Given the description of an element on the screen output the (x, y) to click on. 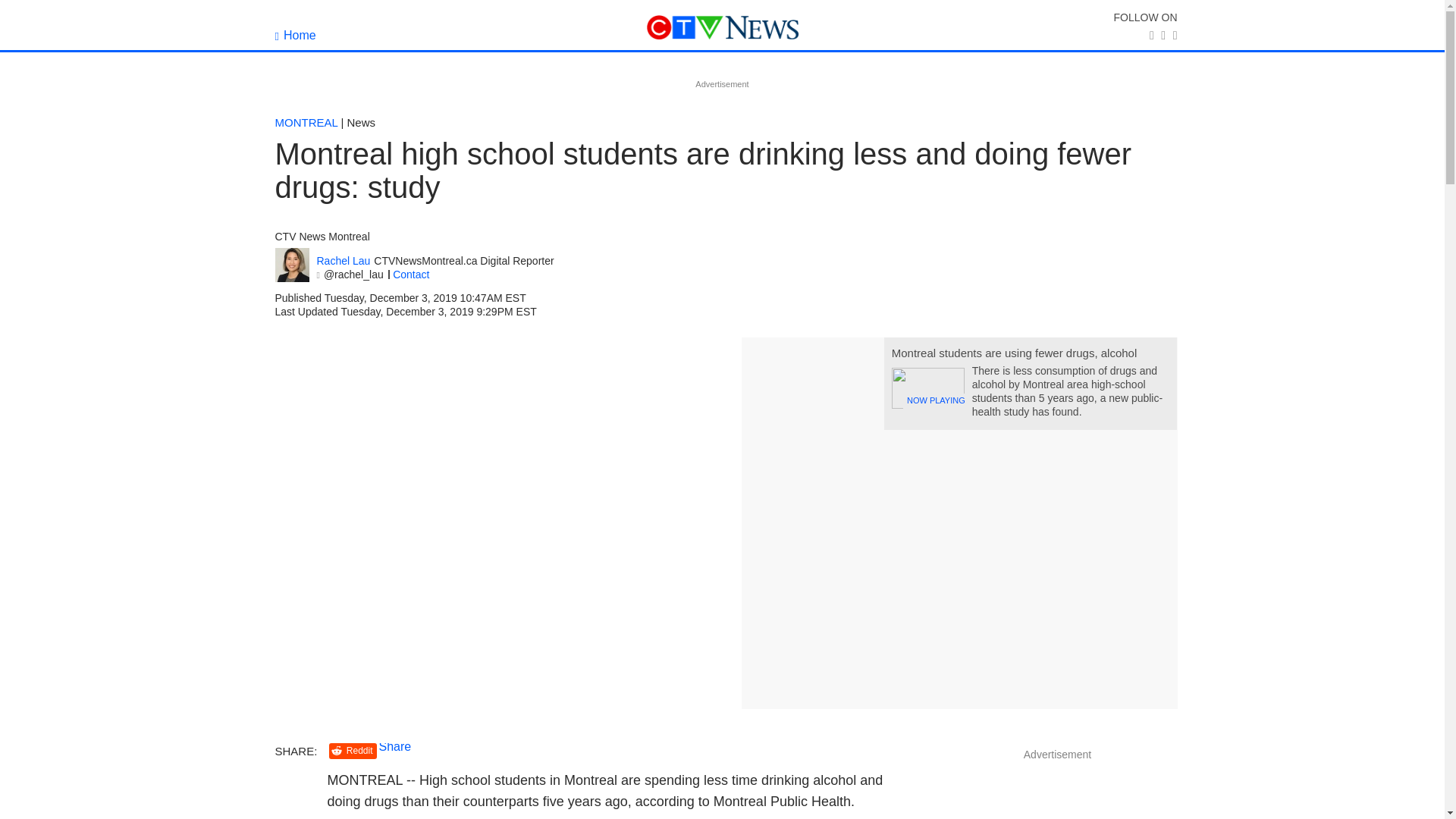
MONTREAL (306, 122)
Rachel Lau (344, 260)
Contact (411, 274)
Home (295, 34)
Share (395, 746)
Reddit (353, 750)
Montreal students are using fewer drugs, alcohol (1014, 352)
  NOW PLAYING (927, 387)
